Given the description of an element on the screen output the (x, y) to click on. 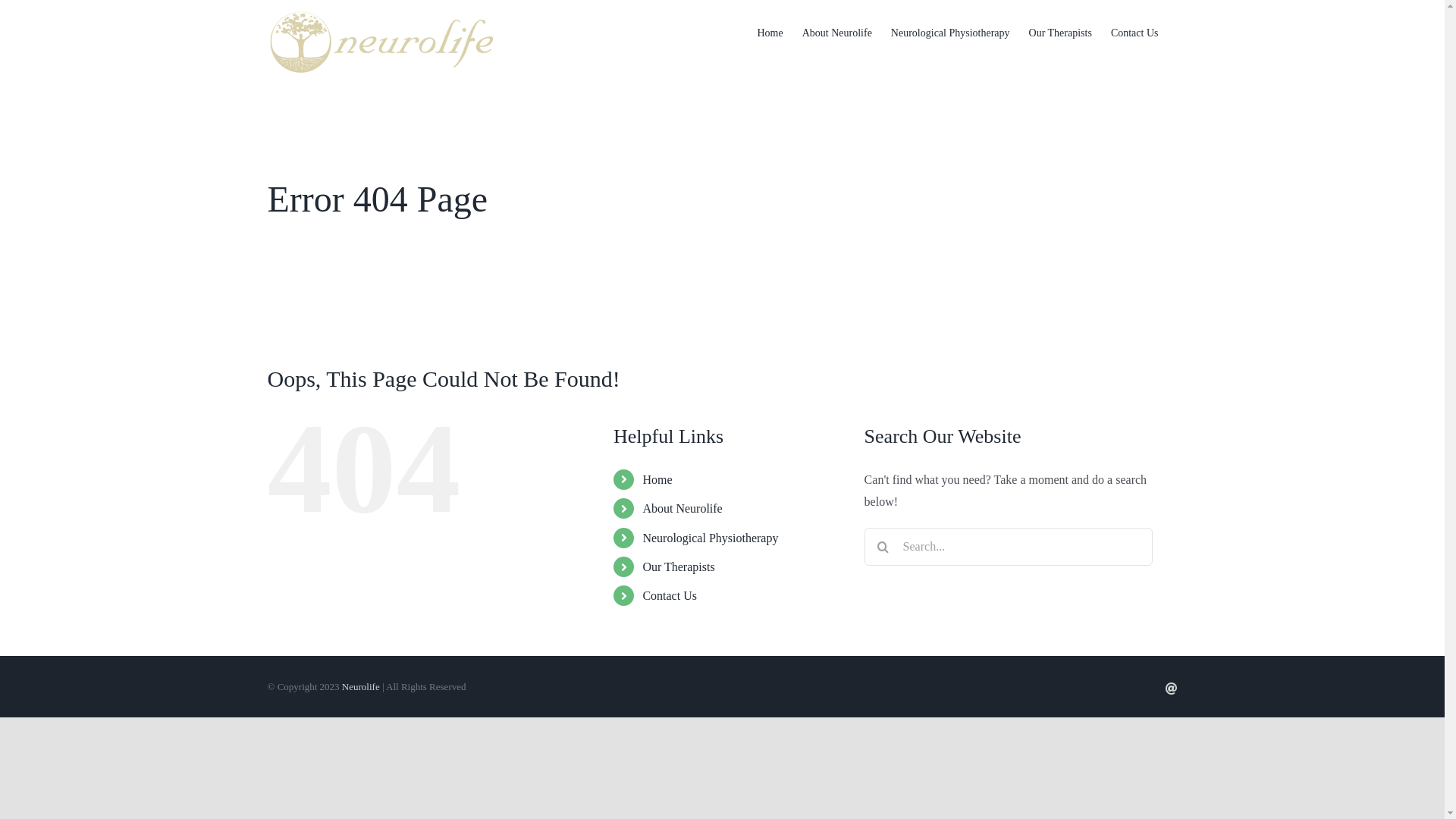
Home Element type: text (656, 479)
Our Therapists Element type: text (678, 566)
Neurolife Element type: text (360, 686)
Contact Us Element type: text (669, 595)
Neurological Physiotherapy Element type: text (710, 537)
Email Element type: text (1170, 688)
Our Therapists Element type: text (1060, 31)
Neurological Physiotherapy Element type: text (950, 31)
About Neurolife Element type: text (681, 508)
Home Element type: text (769, 31)
About Neurolife Element type: text (837, 31)
Contact Us Element type: text (1134, 31)
